Given the description of an element on the screen output the (x, y) to click on. 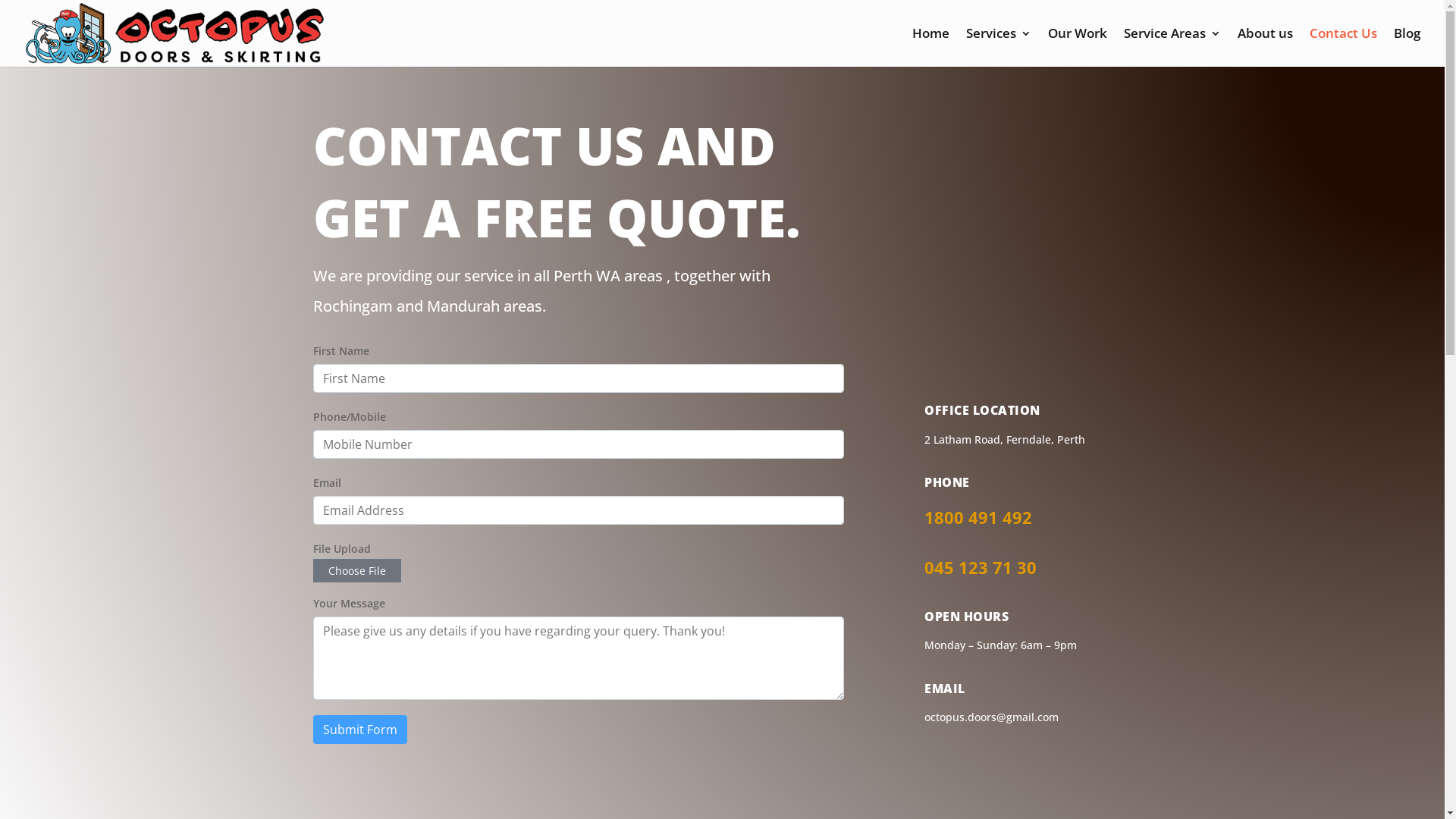
Services Element type: text (998, 47)
045 123 71 30 Element type: text (980, 566)
Submit Form Element type: text (359, 729)
Home Element type: text (930, 47)
About us Element type: text (1264, 47)
Service Areas Element type: text (1171, 47)
Our Work Element type: text (1077, 47)
Contact Us Element type: text (1343, 47)
Blog Element type: text (1406, 47)
1800 491 492 Element type: text (978, 516)
